Given the description of an element on the screen output the (x, y) to click on. 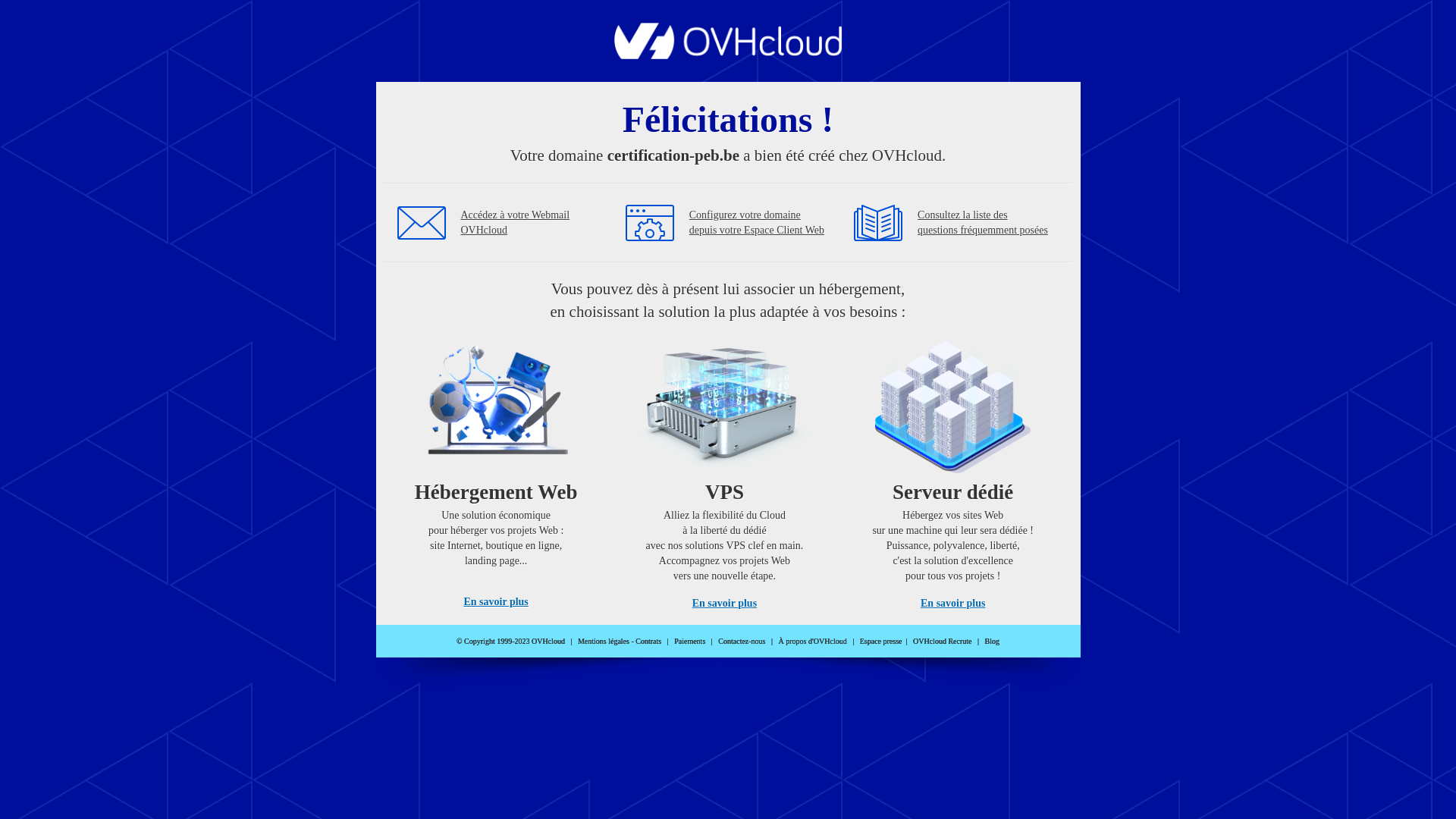
Contactez-nous Element type: text (741, 641)
En savoir plus Element type: text (724, 602)
Espace presse Element type: text (880, 641)
Configurez votre domaine
depuis votre Espace Client Web Element type: text (756, 222)
Paiements Element type: text (689, 641)
En savoir plus Element type: text (952, 602)
En savoir plus Element type: text (495, 601)
Blog Element type: text (992, 641)
VPS Element type: hover (724, 469)
OVHcloud Element type: hover (727, 54)
OVHcloud Recrute Element type: text (942, 641)
